Given the description of an element on the screen output the (x, y) to click on. 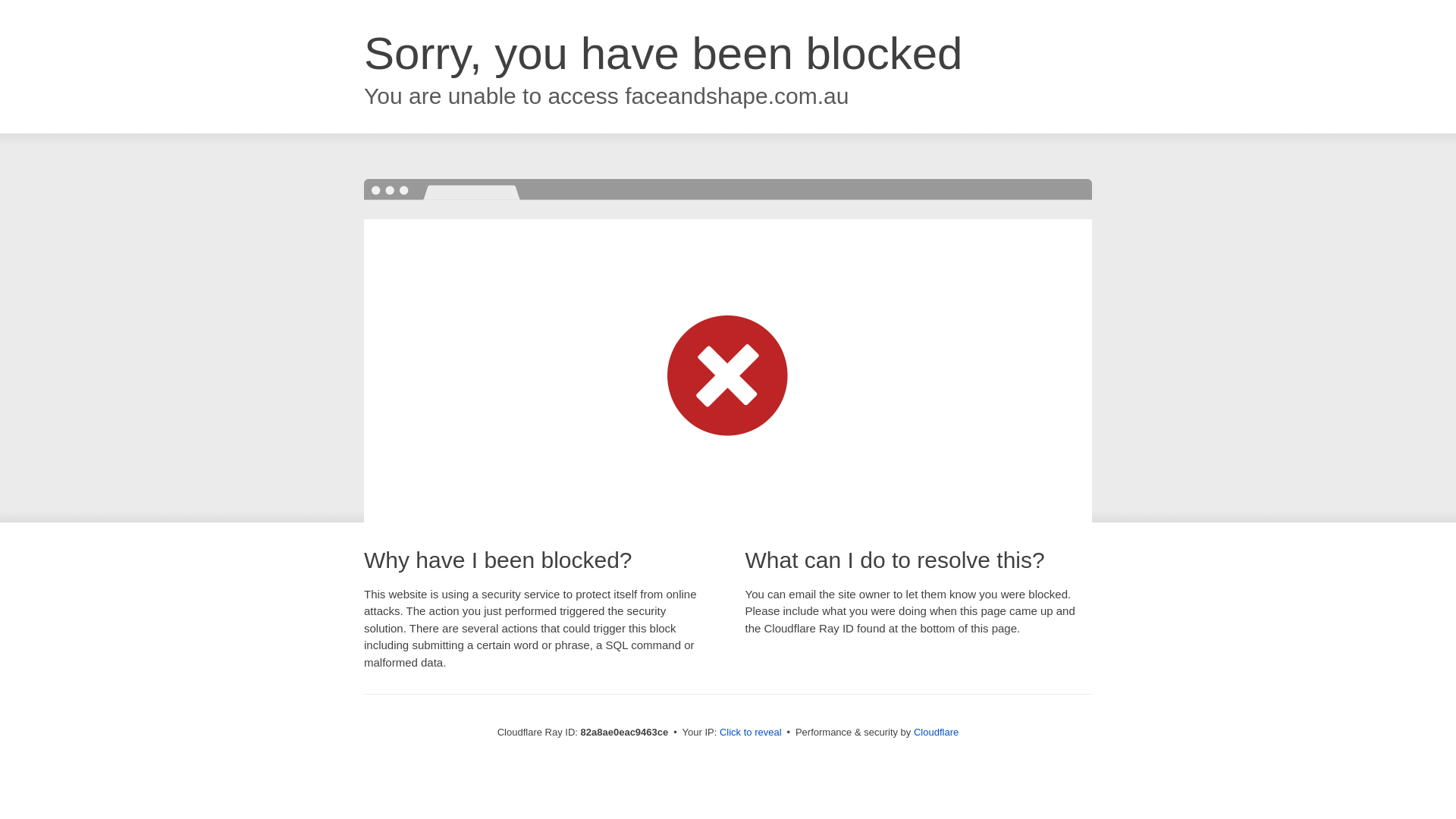
Cloudflare Element type: text (935, 731)
Click to reveal Element type: text (750, 732)
